Given the description of an element on the screen output the (x, y) to click on. 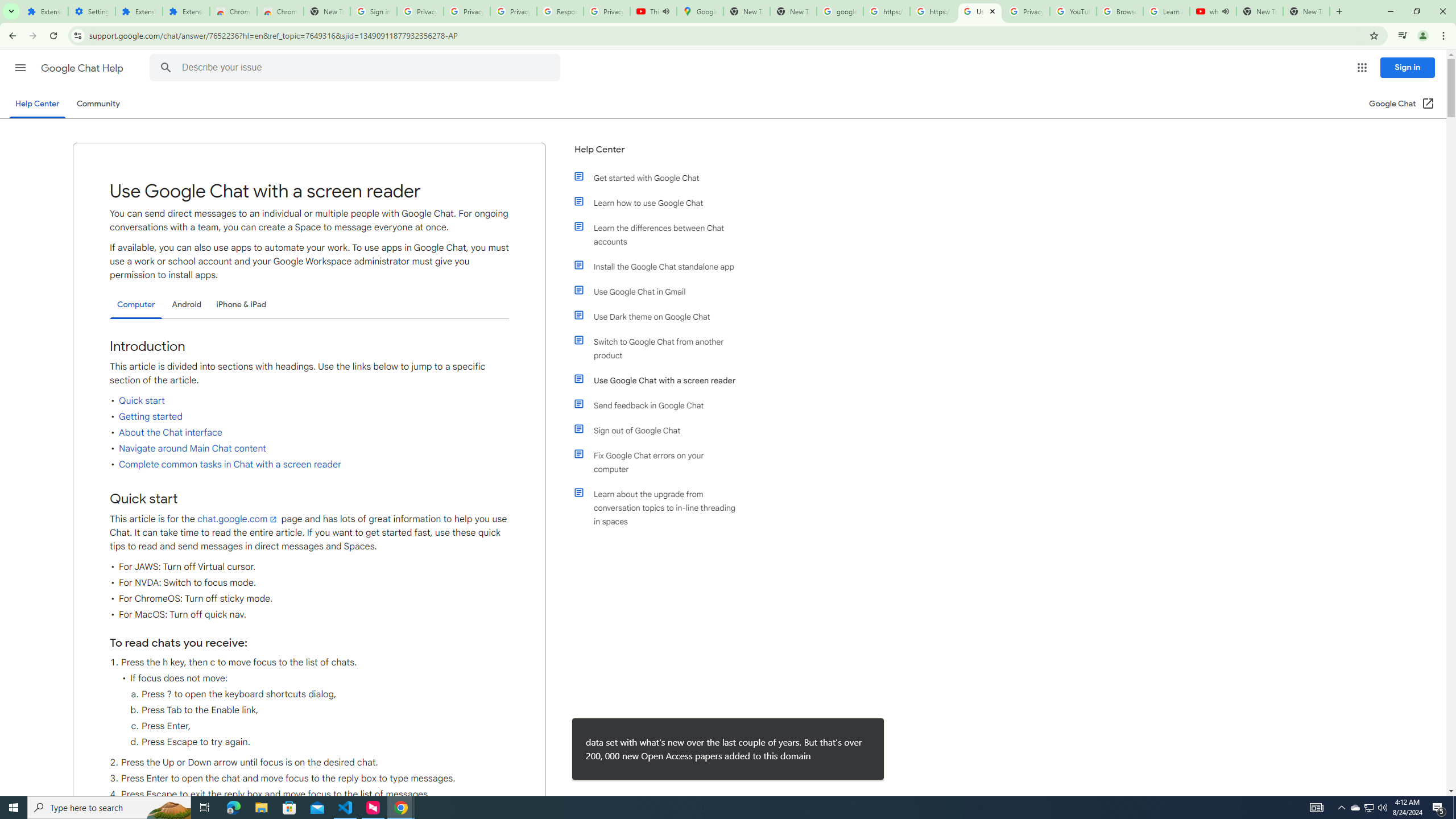
Sign out of Google Chat (661, 430)
Google Chat Help (82, 68)
New Tab (1306, 11)
Chrome Web Store (233, 11)
Extensions (186, 11)
Use Google Chat with a screen reader (661, 380)
Search Help Center (165, 67)
Learn how to use Google Chat (661, 202)
Quick start (141, 401)
Send feedback in Google Chat (661, 405)
